Given the description of an element on the screen output the (x, y) to click on. 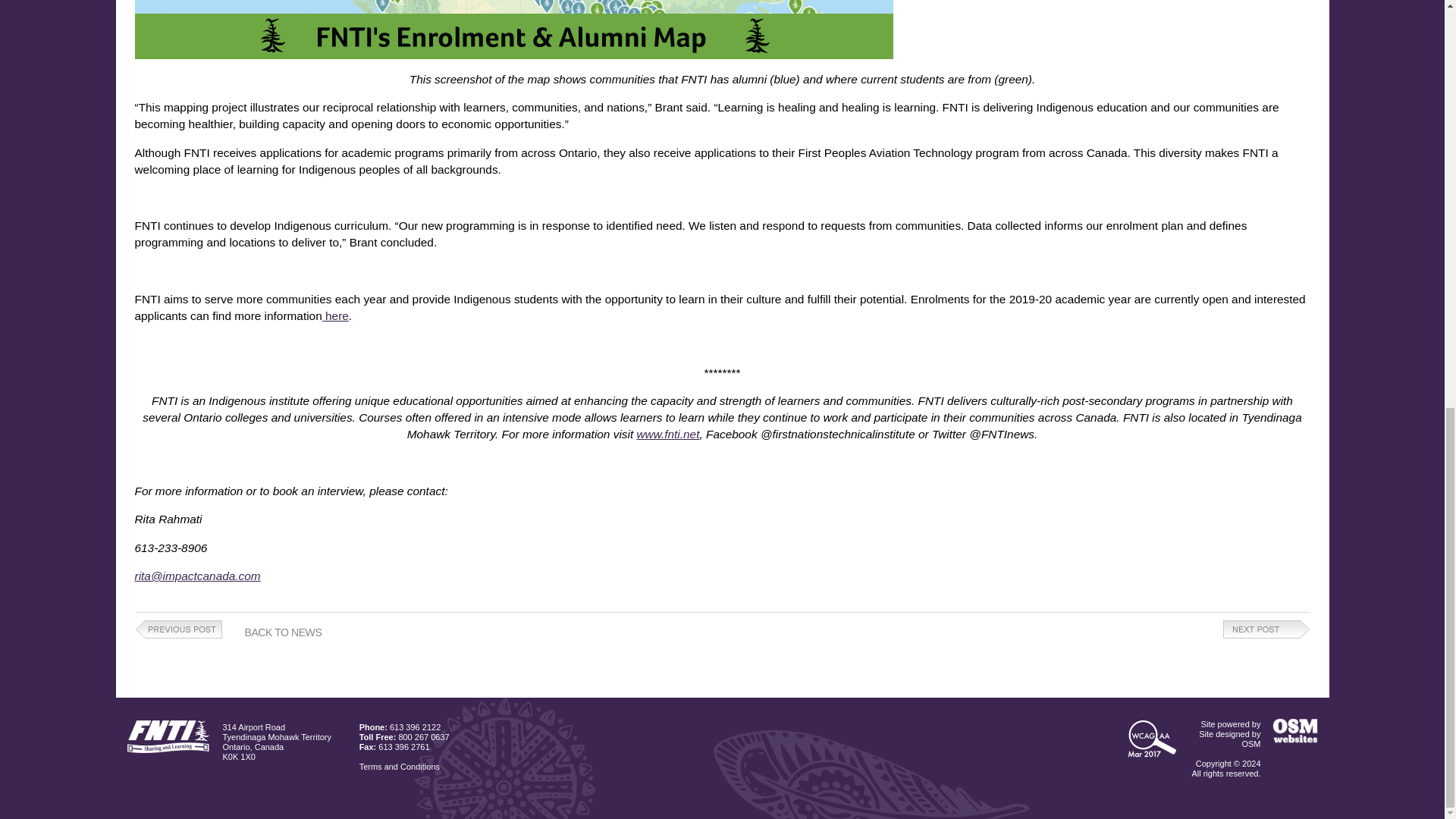
Terms and Privacy (399, 766)
here (335, 315)
